Given the description of an element on the screen output the (x, y) to click on. 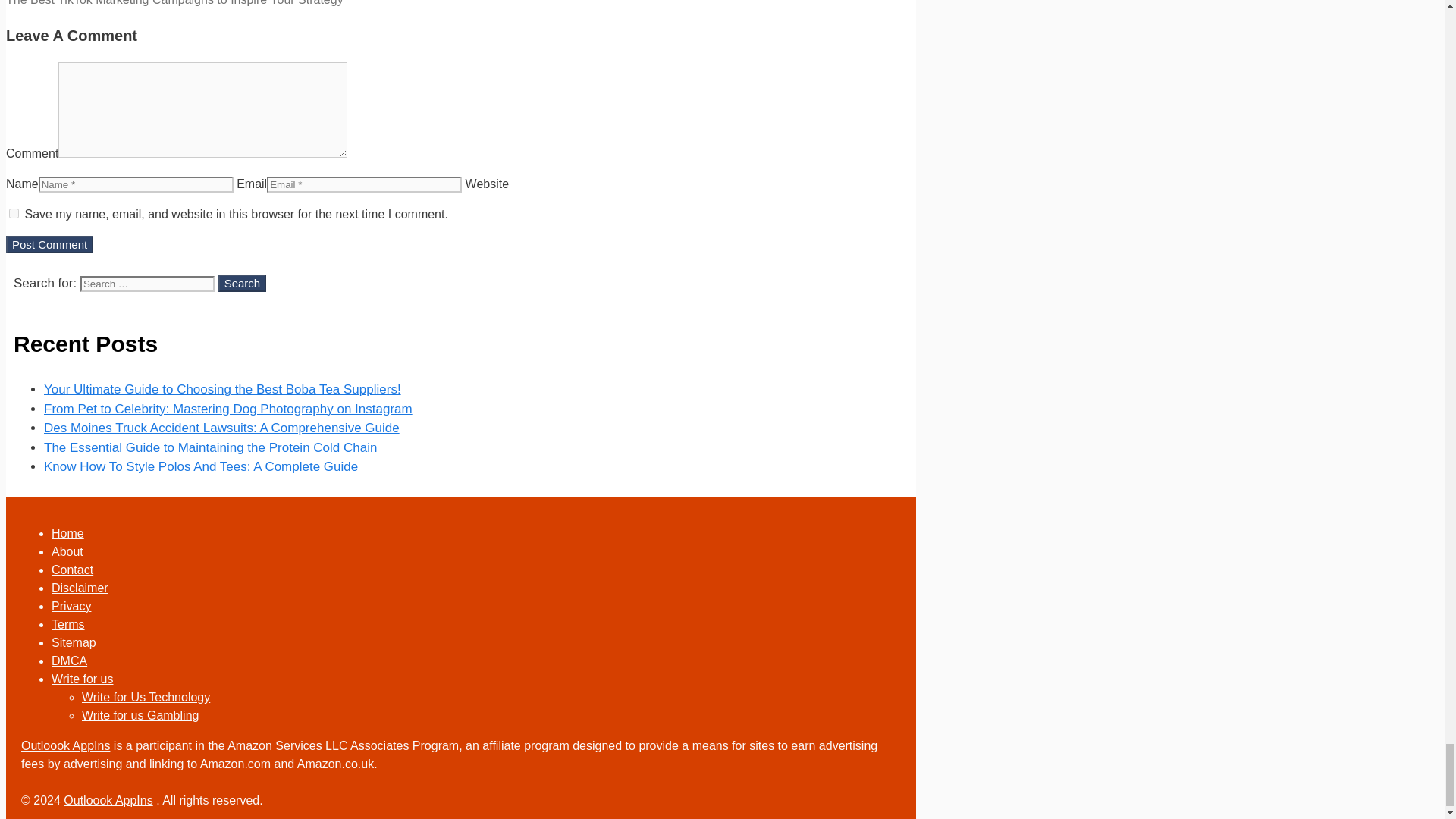
Search (242, 282)
Post Comment (49, 244)
Privacy (70, 605)
Search (242, 282)
DMCA Takedown (68, 660)
Outlook AppIns (67, 533)
Search for: (147, 283)
About (66, 551)
Sitemap (73, 642)
Contact (71, 569)
